Given the description of an element on the screen output the (x, y) to click on. 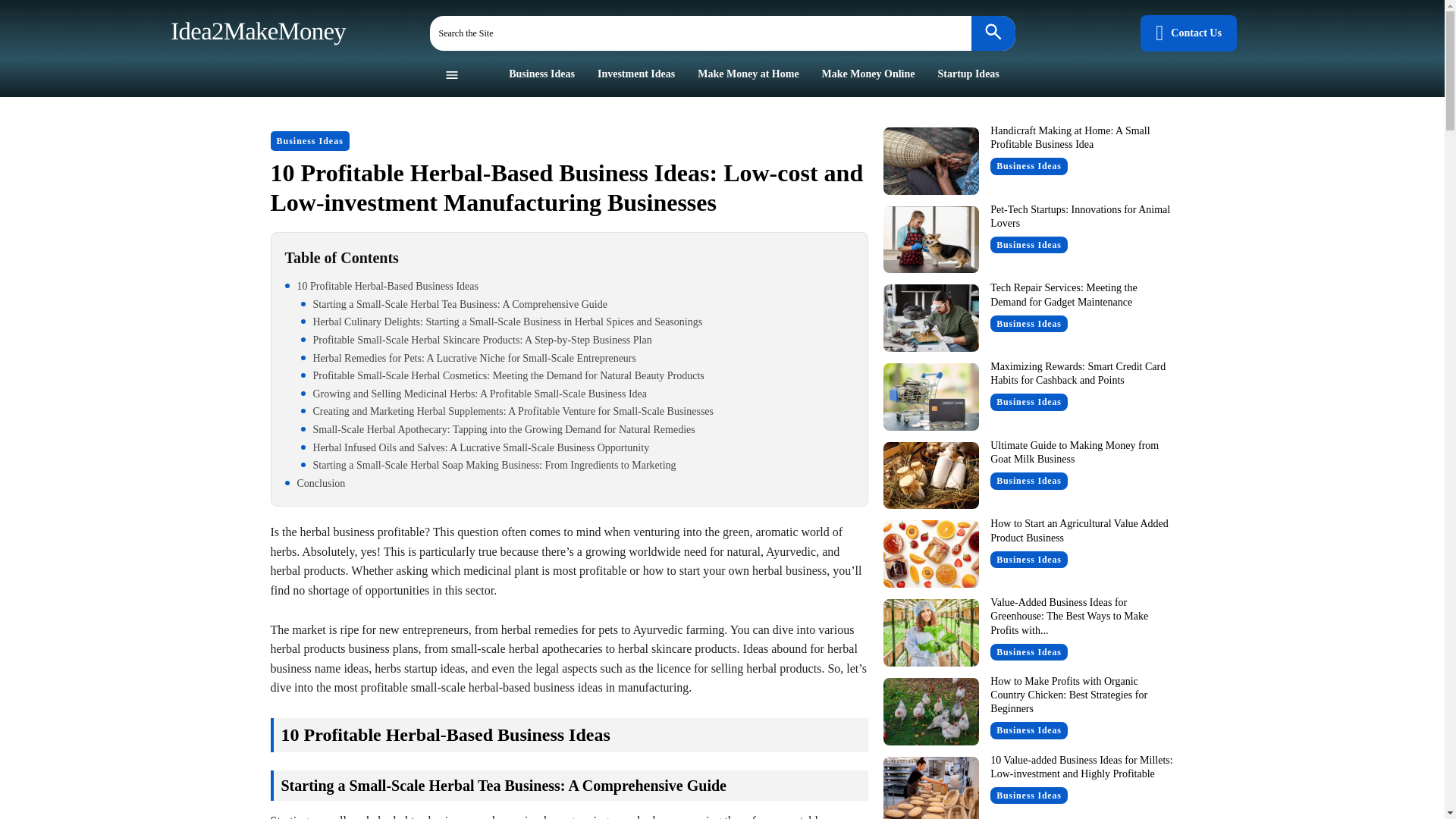
Pet-Tech Startups: Innovations for Animal Lovers (1080, 216)
Ultimate Guide to Making Money from Goat Milk Business (930, 475)
Contact Us (1188, 33)
Handicraft Making at Home: A Small Profitable Business Idea (930, 160)
Idea2MakeMoney (255, 29)
Contact Us (1188, 33)
Pet-Tech Startups: Innovations for Animal Lovers (930, 239)
Idea2MakeMoney (255, 29)
